Given the description of an element on the screen output the (x, y) to click on. 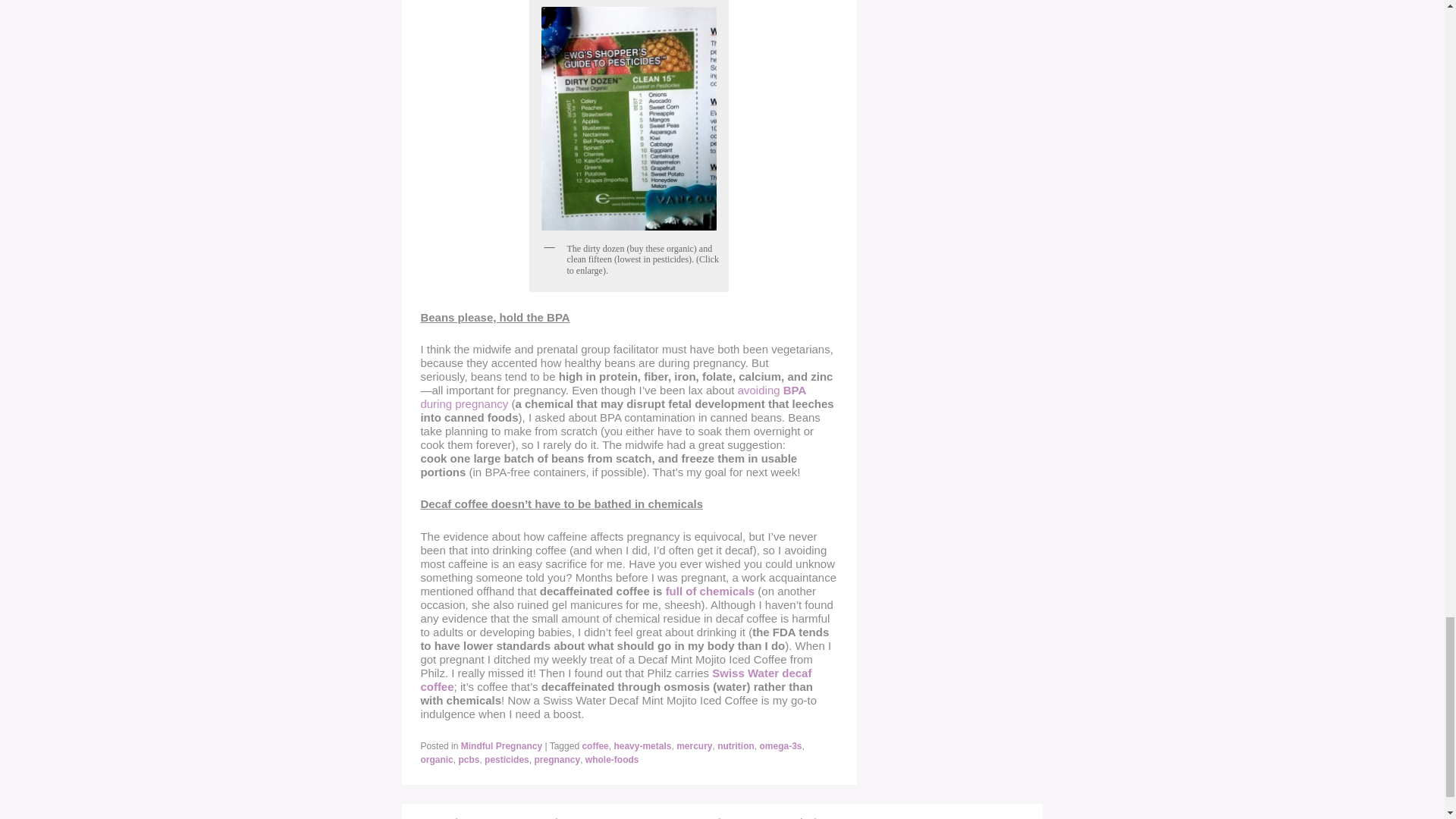
pesticides (506, 759)
Swiss Water decaf coffee (615, 679)
full of chemicals (710, 590)
BPA-Free Pregnancy (613, 397)
Ethyl Acetate (710, 590)
mercury (694, 746)
heavy-metals (641, 746)
avoiding BPA during pregnancy (613, 397)
organic (436, 759)
Swiss Water Decaf (615, 679)
nutrition (735, 746)
Mindful Pregnancy (501, 746)
coffee (594, 746)
omega-3s (781, 746)
pcbs (468, 759)
